Given the description of an element on the screen output the (x, y) to click on. 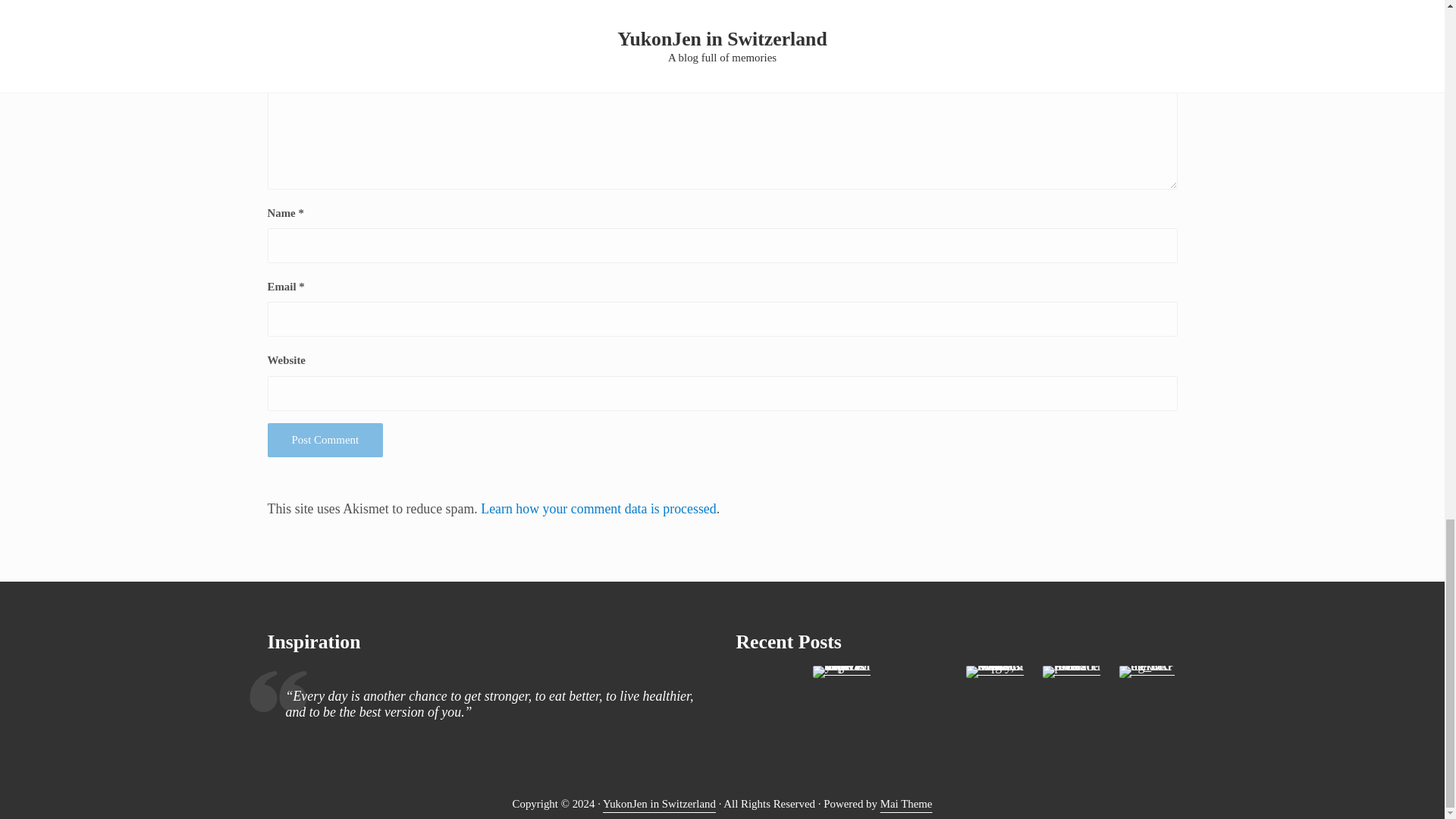
YukonJen in Switzerland (659, 803)
Post Comment (324, 440)
Learn how your comment data is processed (598, 508)
Mai Theme (906, 803)
Post Comment (324, 440)
